Given the description of an element on the screen output the (x, y) to click on. 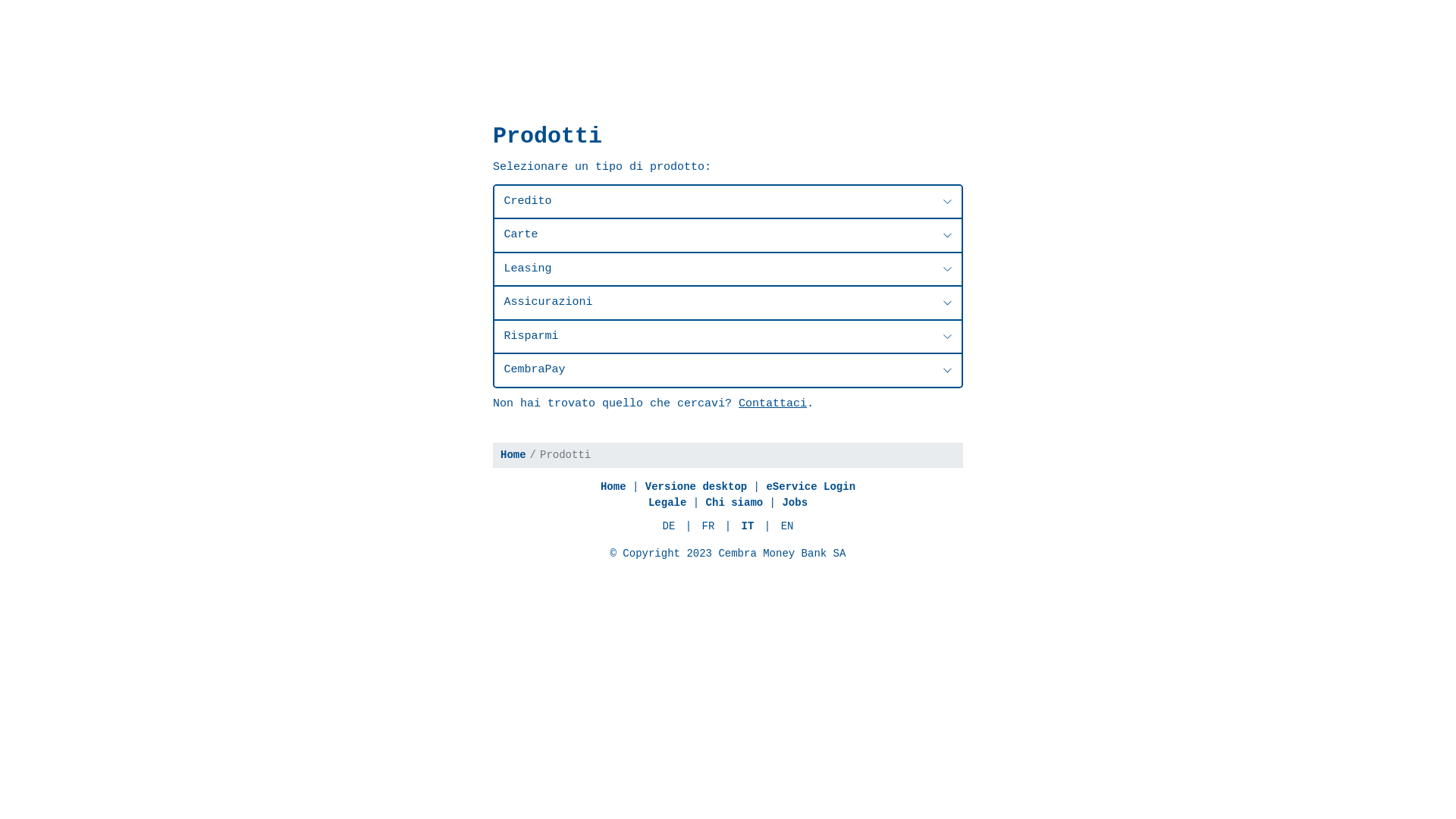
Carte Element type: text (727, 235)
FR Element type: text (708, 526)
Jobs Element type: text (794, 502)
eService Login Element type: text (810, 486)
CembraPay Element type: text (727, 370)
Chi siamo Element type: text (734, 502)
Contattaci Element type: text (772, 403)
Home Element type: text (513, 454)
EN Element type: text (787, 526)
Legale Element type: text (667, 502)
Assicurazioni Element type: text (727, 302)
Home Element type: text (613, 486)
Versione desktop Element type: text (695, 486)
Risparmi Element type: text (727, 336)
DE Element type: text (668, 526)
Leasing Element type: text (727, 269)
IT Element type: text (747, 526)
Credito Element type: text (727, 201)
